Given the description of an element on the screen output the (x, y) to click on. 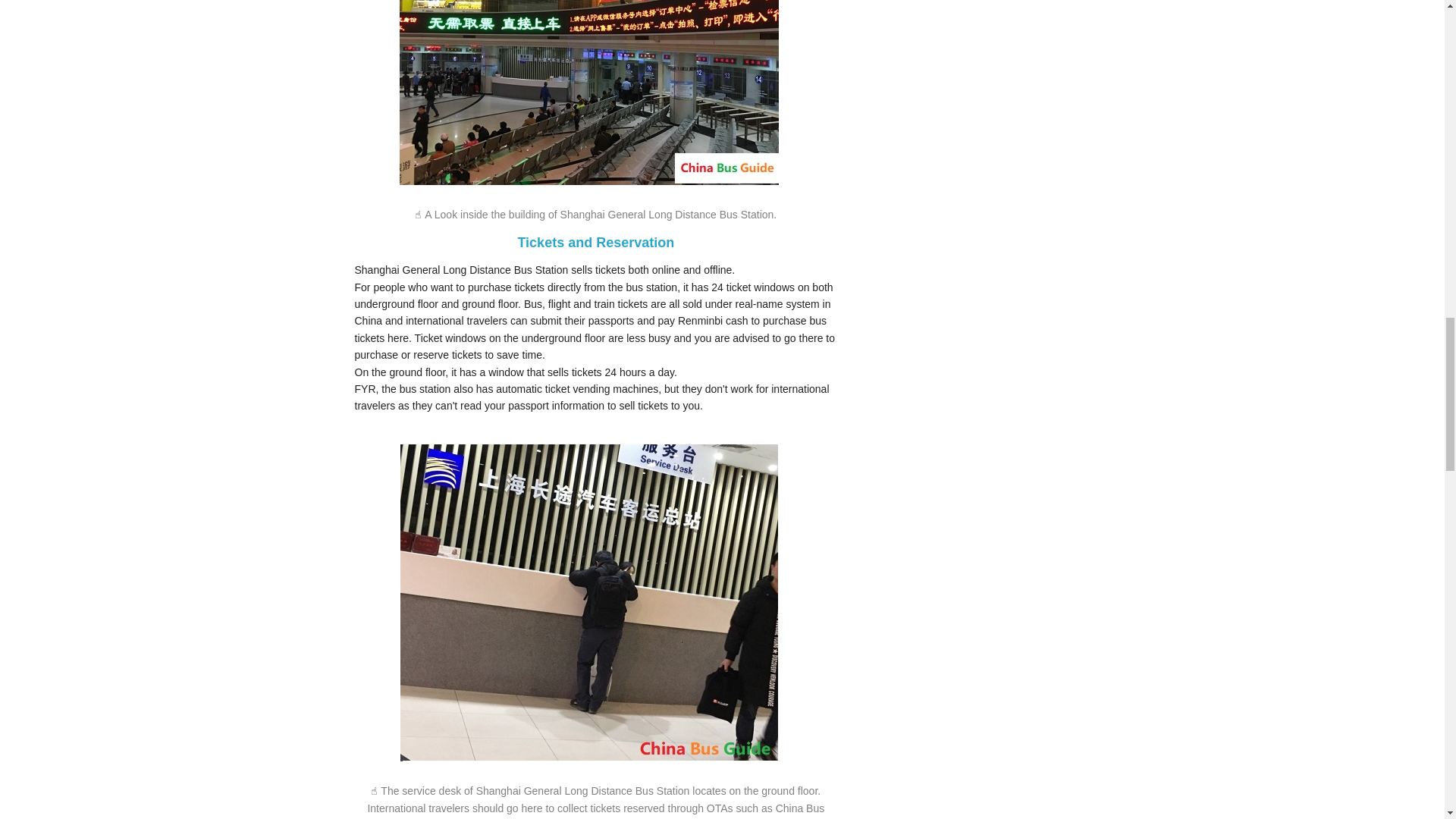
Tickets and Reservation (595, 242)
